Given the description of an element on the screen output the (x, y) to click on. 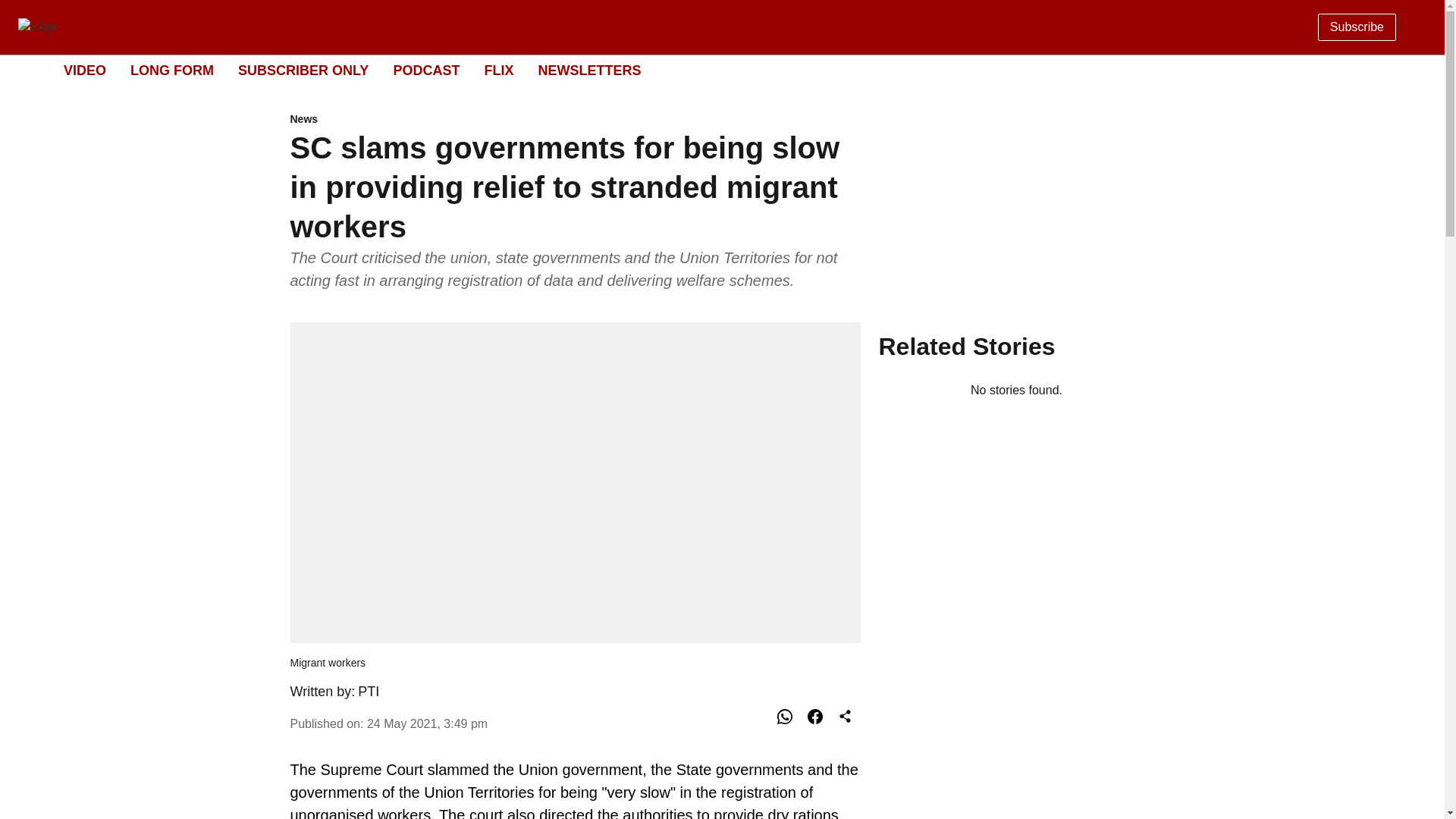
PODCAST (426, 70)
PTI (368, 691)
SUBSCRIBER ONLY (303, 70)
NEWSLETTERS (707, 70)
FLIX (588, 70)
VIDEO (498, 70)
News (85, 70)
2021-05-24 15:49 (574, 119)
LONG FORM (426, 723)
